Given the description of an element on the screen output the (x, y) to click on. 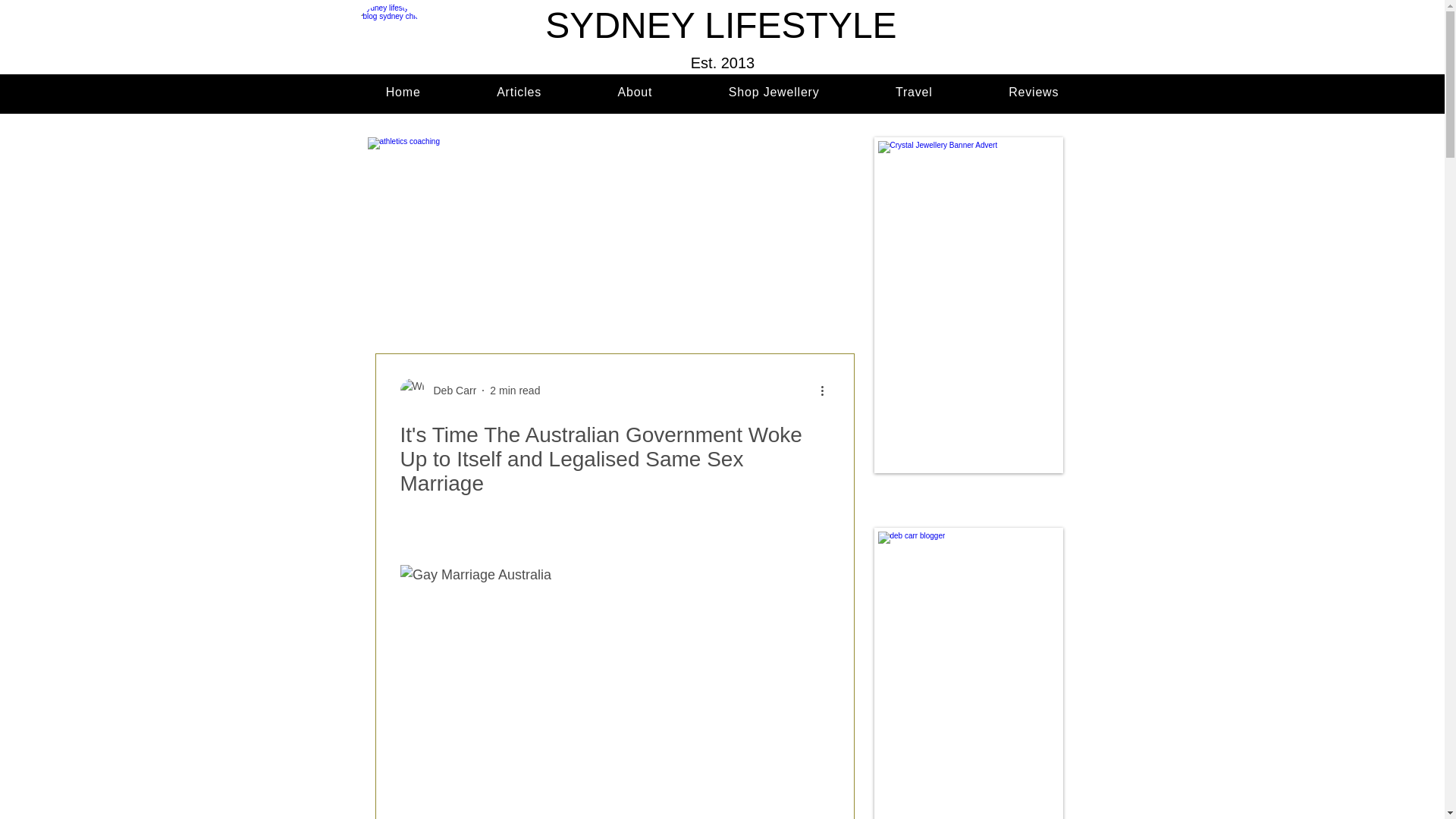
Shop Jewellery (774, 92)
Deb Carr (438, 390)
Reviews (1034, 92)
Deb Carr (451, 390)
2 min read (514, 390)
About (634, 92)
Articles (518, 92)
Home (402, 92)
Travel (721, 92)
